Given the description of an element on the screen output the (x, y) to click on. 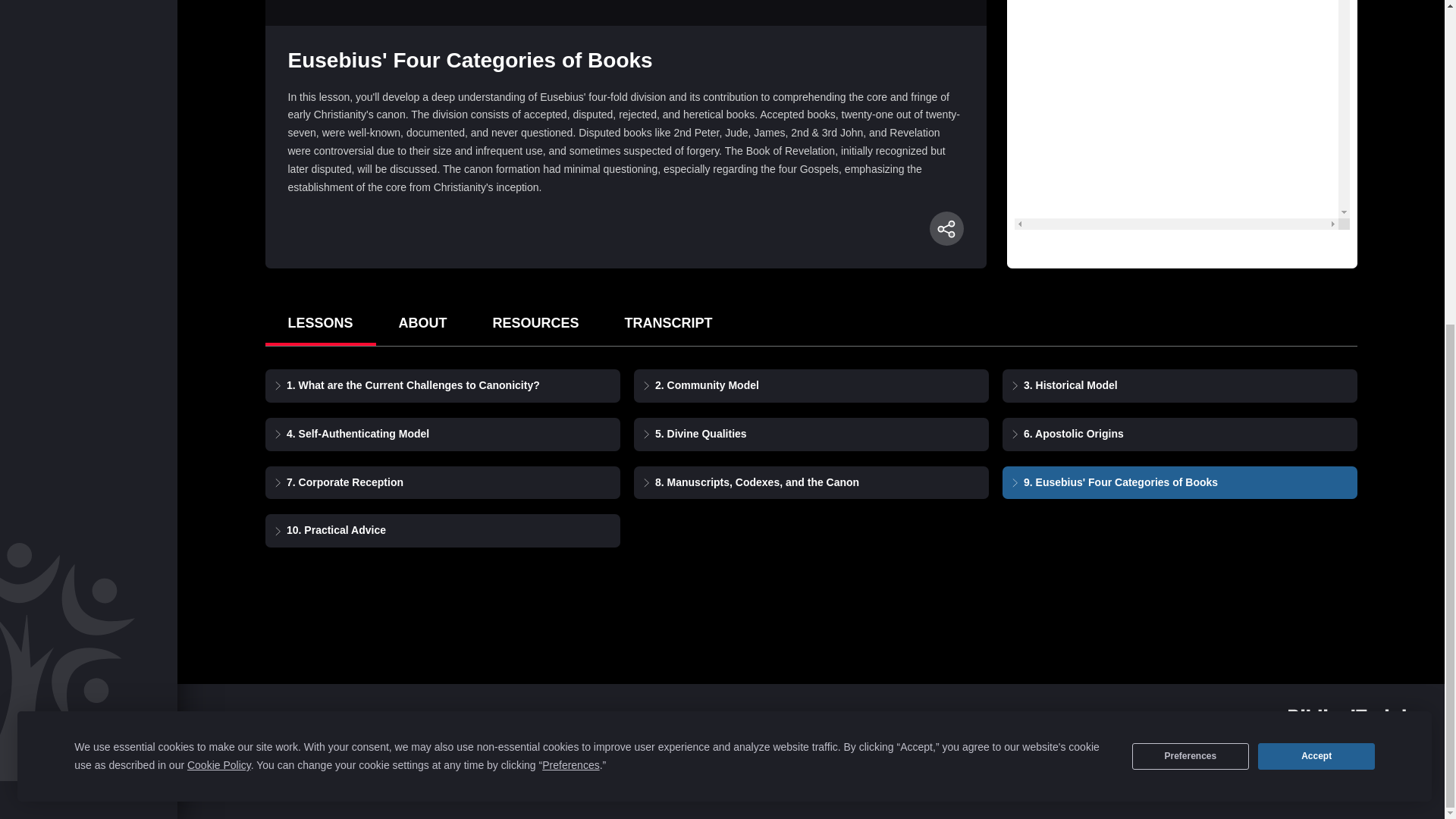
2. Community Model (706, 385)
Back to Home (1227, 724)
Accept (1315, 224)
You must log-in to view this content. (625, 12)
Library (553, 718)
Endorsements (473, 718)
Blogs (397, 718)
6. Apostolic Origins (1073, 434)
5. Divine Qualities (700, 434)
About Us (336, 718)
YouTube (299, 751)
Share Formation of the New Testament Canon (946, 228)
Preferences (1190, 224)
FAQ (603, 718)
Twitter (360, 751)
